Given the description of an element on the screen output the (x, y) to click on. 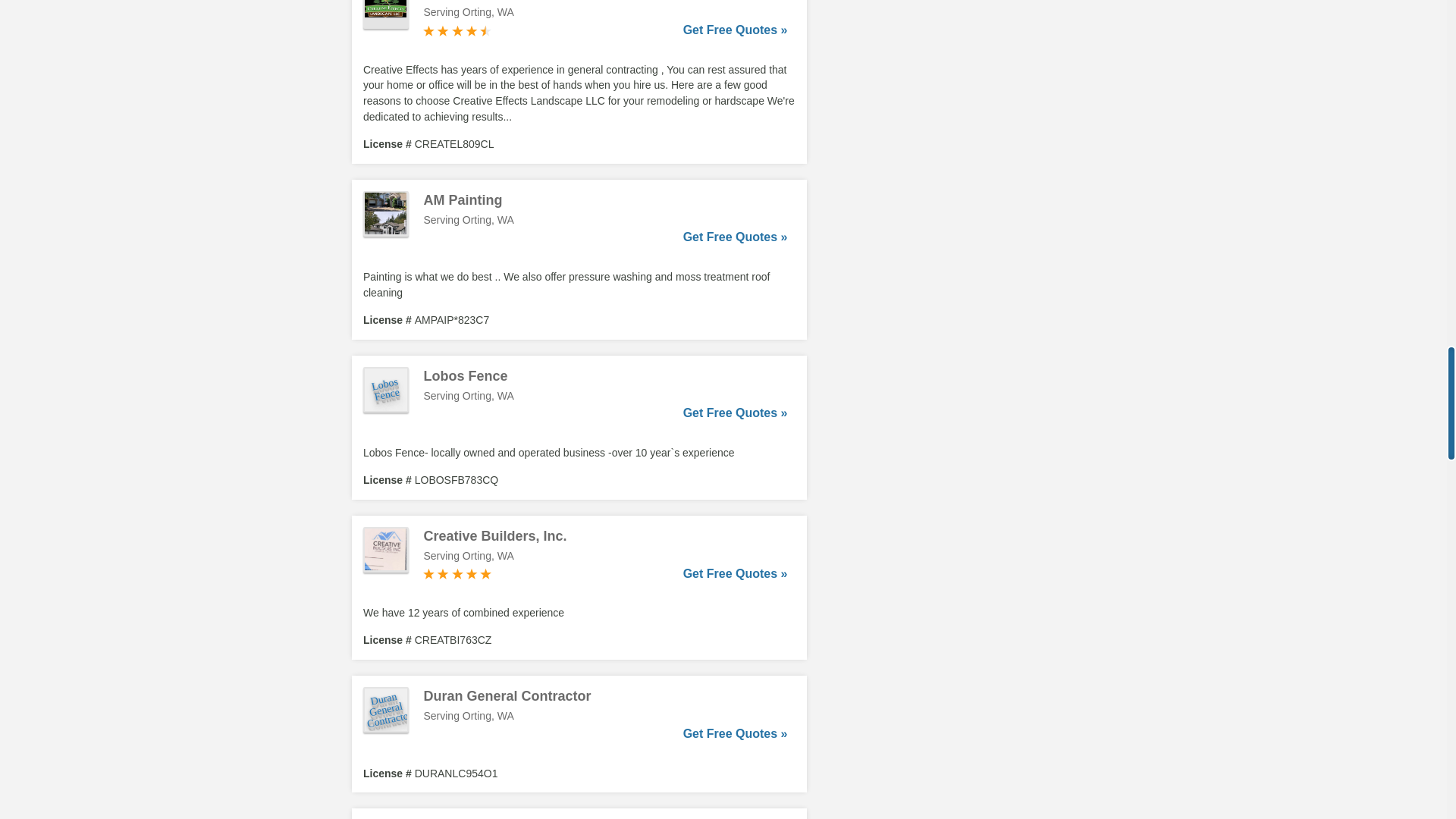
4.5 star rating (457, 30)
5 star rating (457, 573)
